Given the description of an element on the screen output the (x, y) to click on. 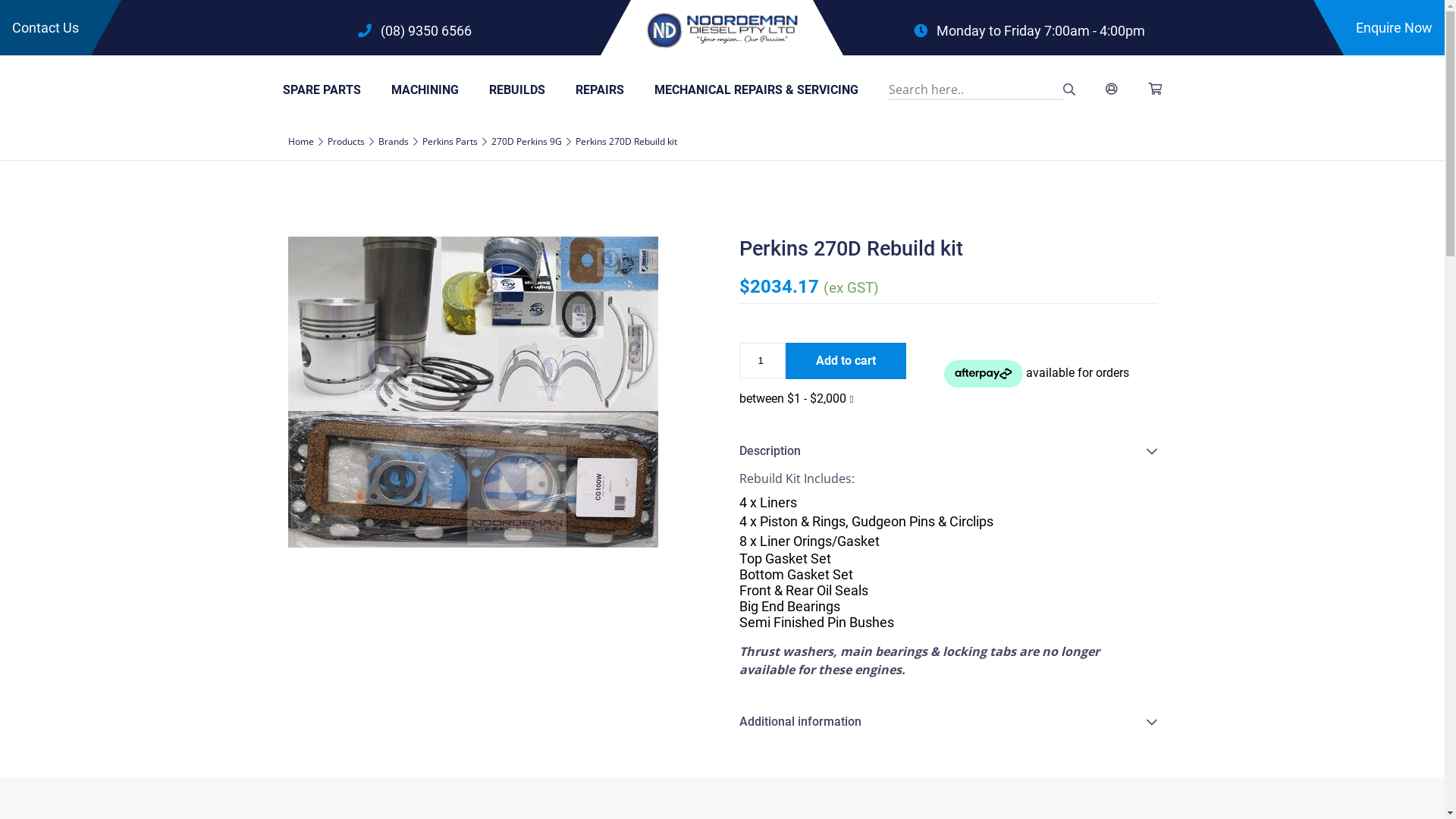
Home Element type: text (300, 140)
MACHINING Element type: text (424, 89)
   (08) 9350 6566 Element type: text (414, 30)
Products Element type: text (345, 140)
Add to cart Element type: text (845, 360)
Perkins 270D Rebuild kit Element type: hover (473, 391)
Enquire Now Element type: text (1393, 27)
REPAIRS Element type: text (599, 89)
MECHANICAL REPAIRS & SERVICING Element type: text (756, 89)
Perkins Parts Element type: text (448, 140)
SPARE PARTS Element type: text (321, 89)
270D Perkins 9G Element type: text (526, 140)
Brands Element type: text (392, 140)
Contact Us Element type: text (45, 27)
Qty Element type: hover (761, 360)
REBUILDS Element type: text (517, 89)
